Given the description of an element on the screen output the (x, y) to click on. 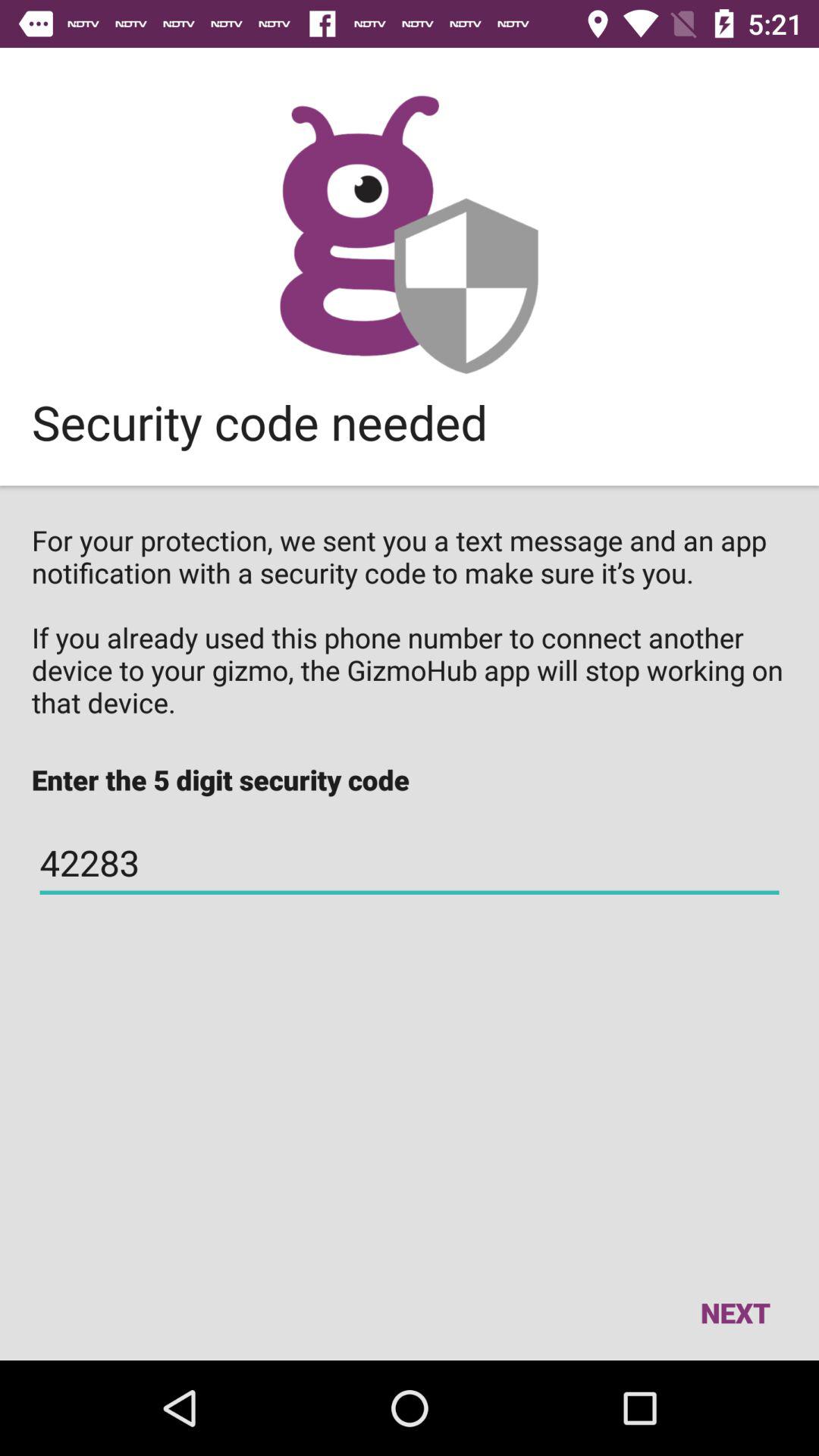
click item at the bottom right corner (735, 1312)
